Given the description of an element on the screen output the (x, y) to click on. 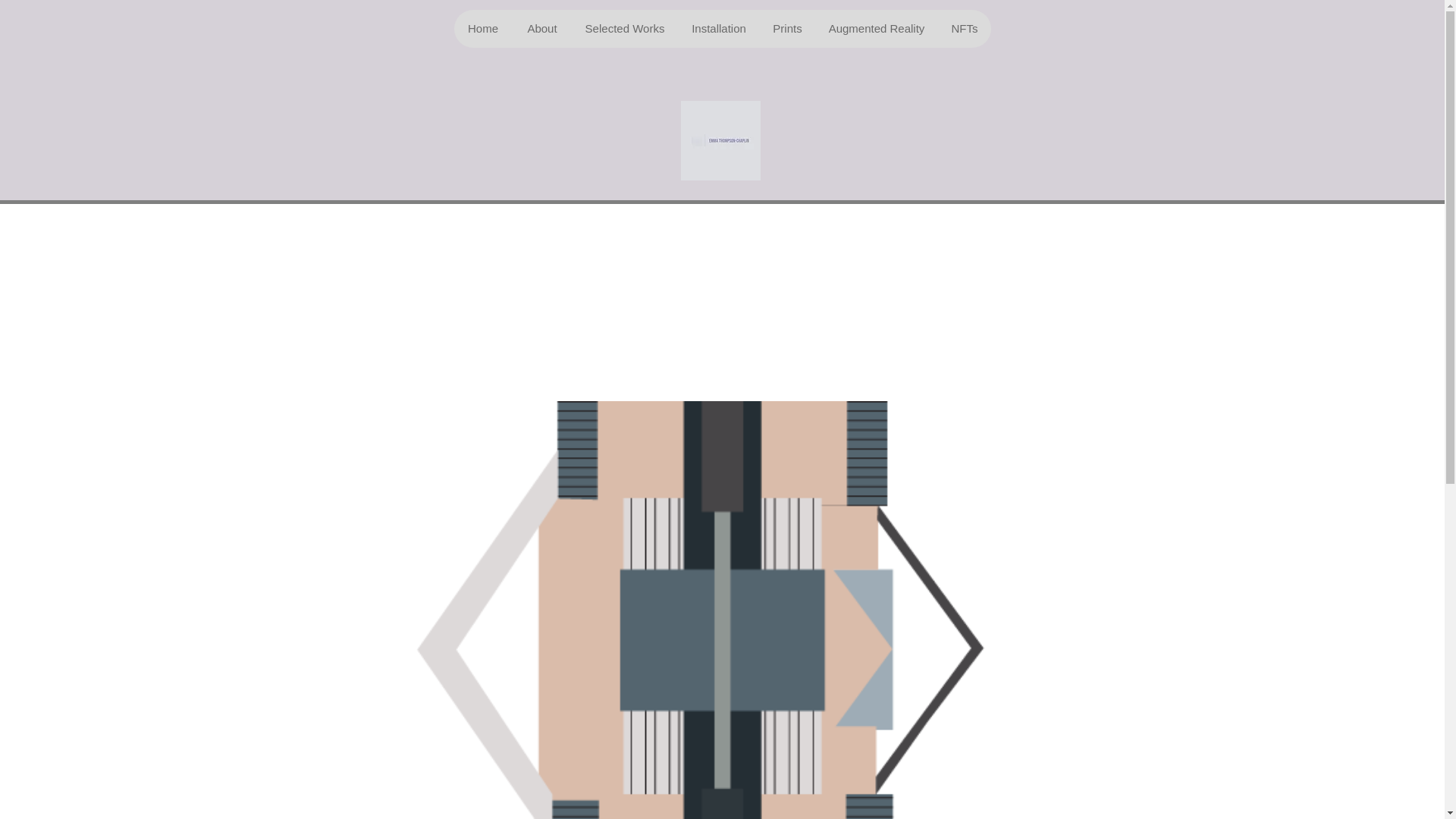
Installation (719, 28)
About (542, 28)
Augmented Reality (875, 28)
Selected Works (625, 28)
Prints (787, 28)
NFTs (963, 28)
Home (482, 28)
